Given the description of an element on the screen output the (x, y) to click on. 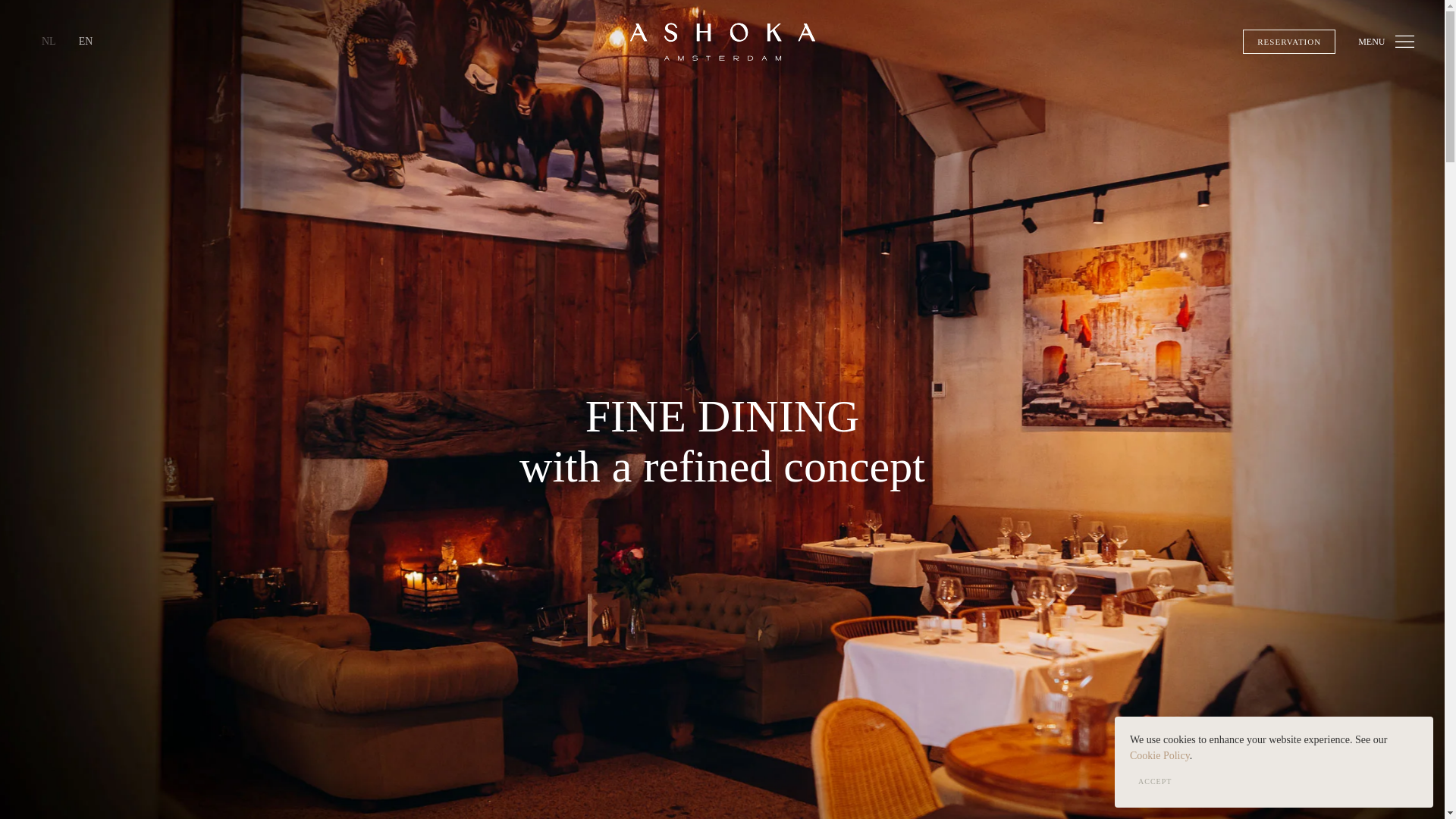
NL (49, 41)
EN (85, 41)
RESERVATION (1289, 41)
